Given the description of an element on the screen output the (x, y) to click on. 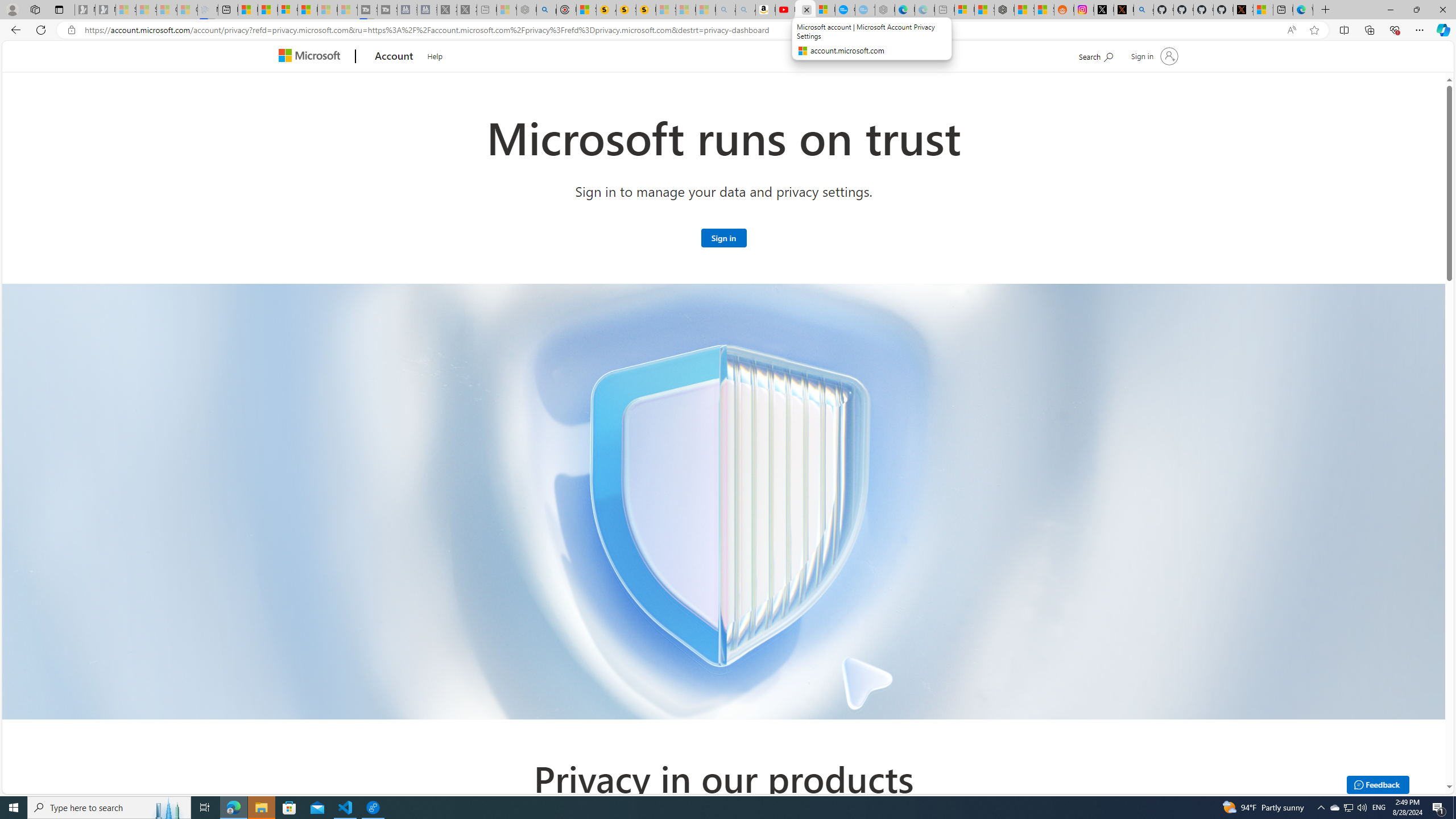
Amazon Echo Dot PNG - Search Images - Sleeping (745, 9)
amazon - Search - Sleeping (725, 9)
github - Search (1143, 9)
New tab - Sleeping (944, 9)
Michelle Starr, Senior Journalist at ScienceAlert (646, 9)
